Given the description of an element on the screen output the (x, y) to click on. 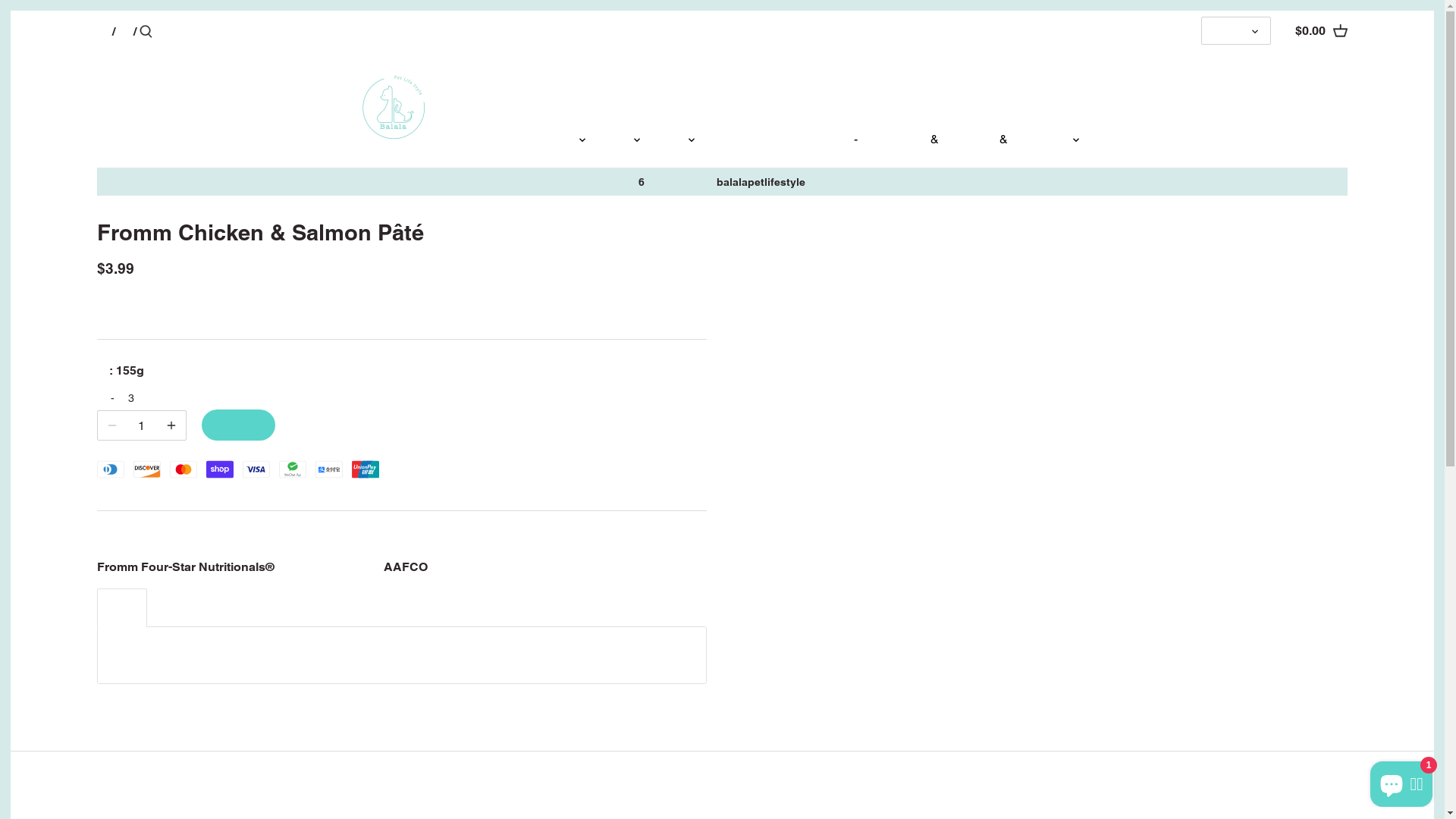
$0.00 Element type: text (1321, 30)
